Given the description of an element on the screen output the (x, y) to click on. 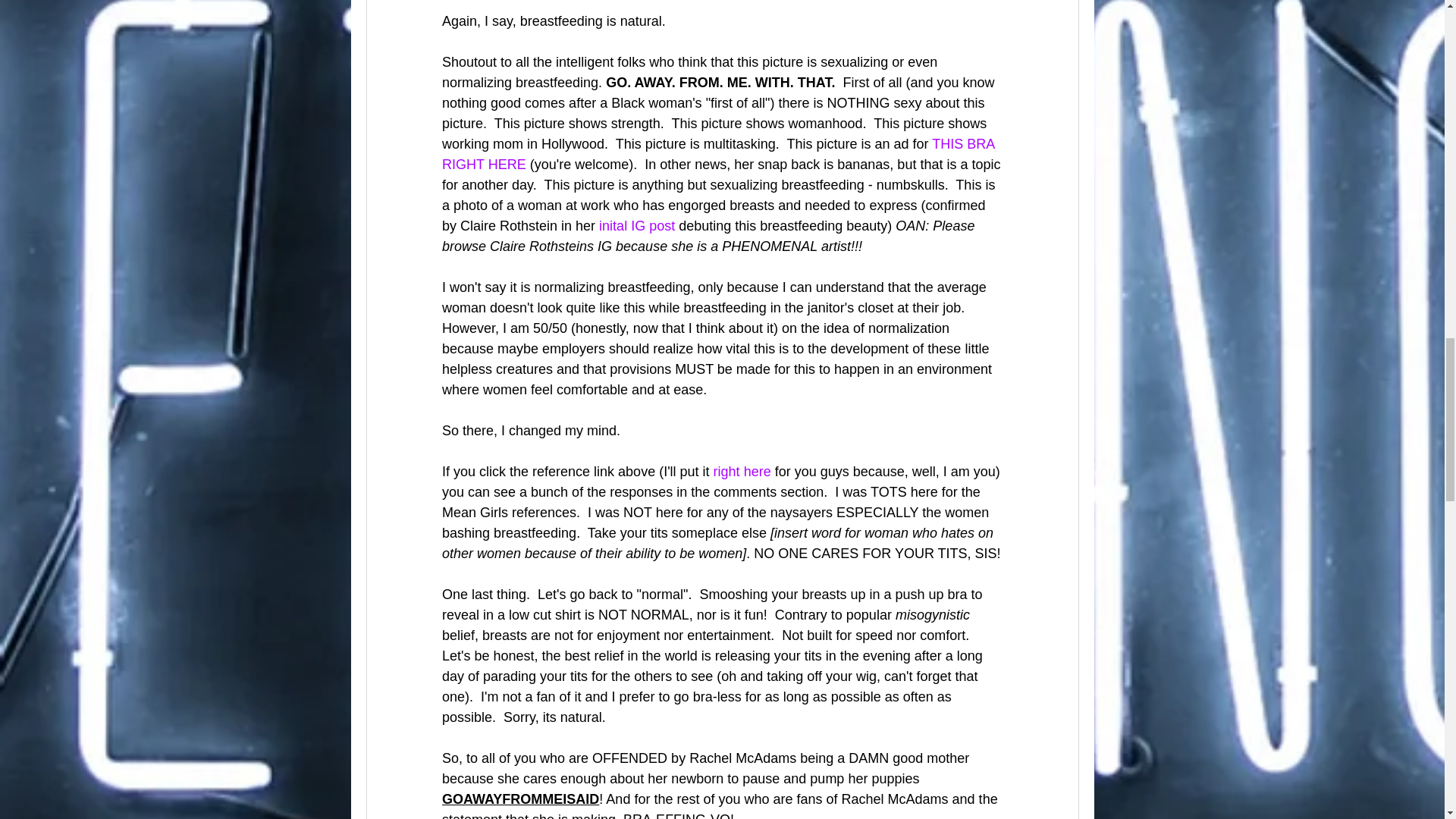
inital IG post (636, 225)
right here (741, 471)
THIS BRA RIGHT HERE (719, 153)
